Given the description of an element on the screen output the (x, y) to click on. 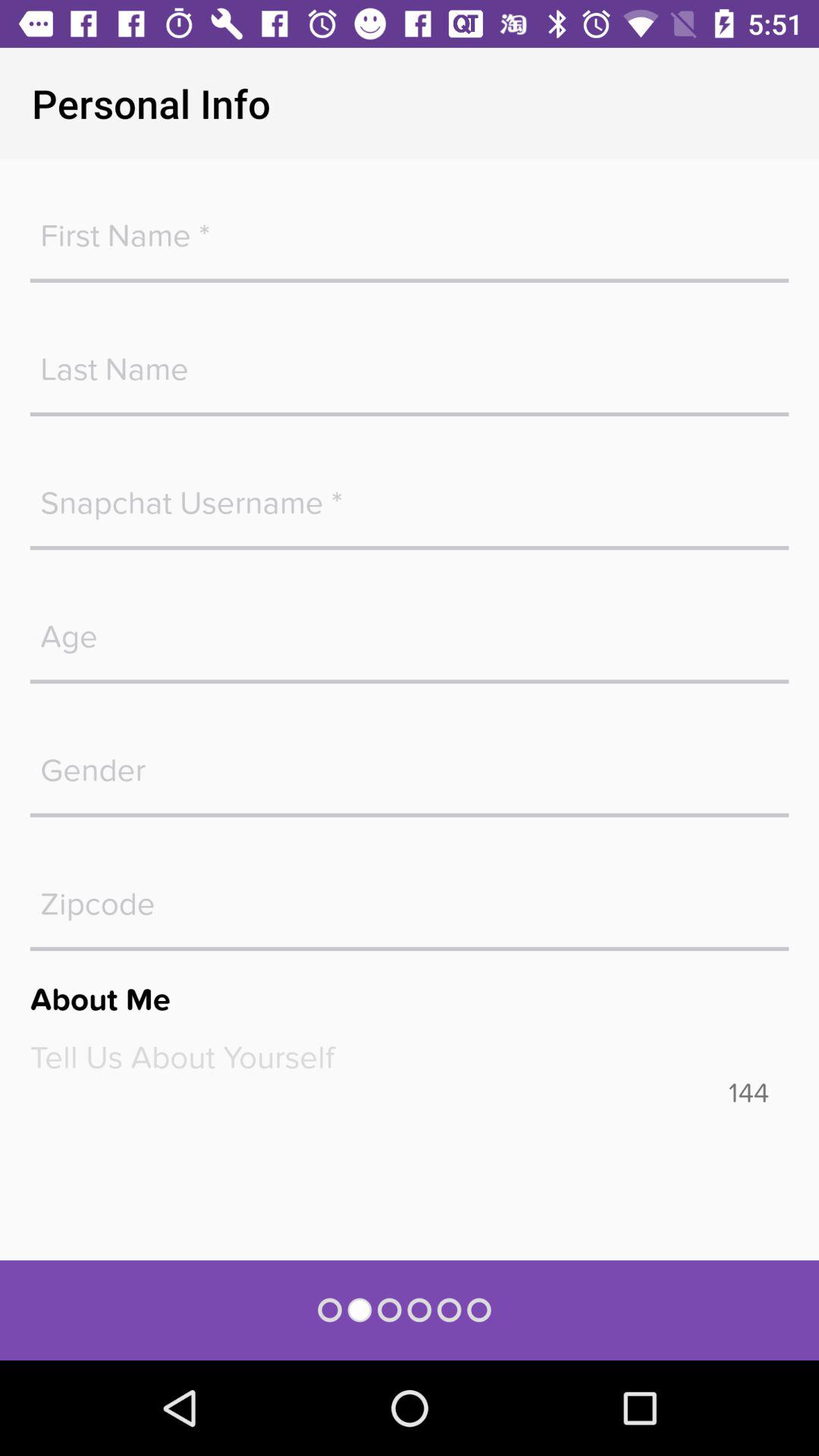
text box (409, 1057)
